Given the description of an element on the screen output the (x, y) to click on. 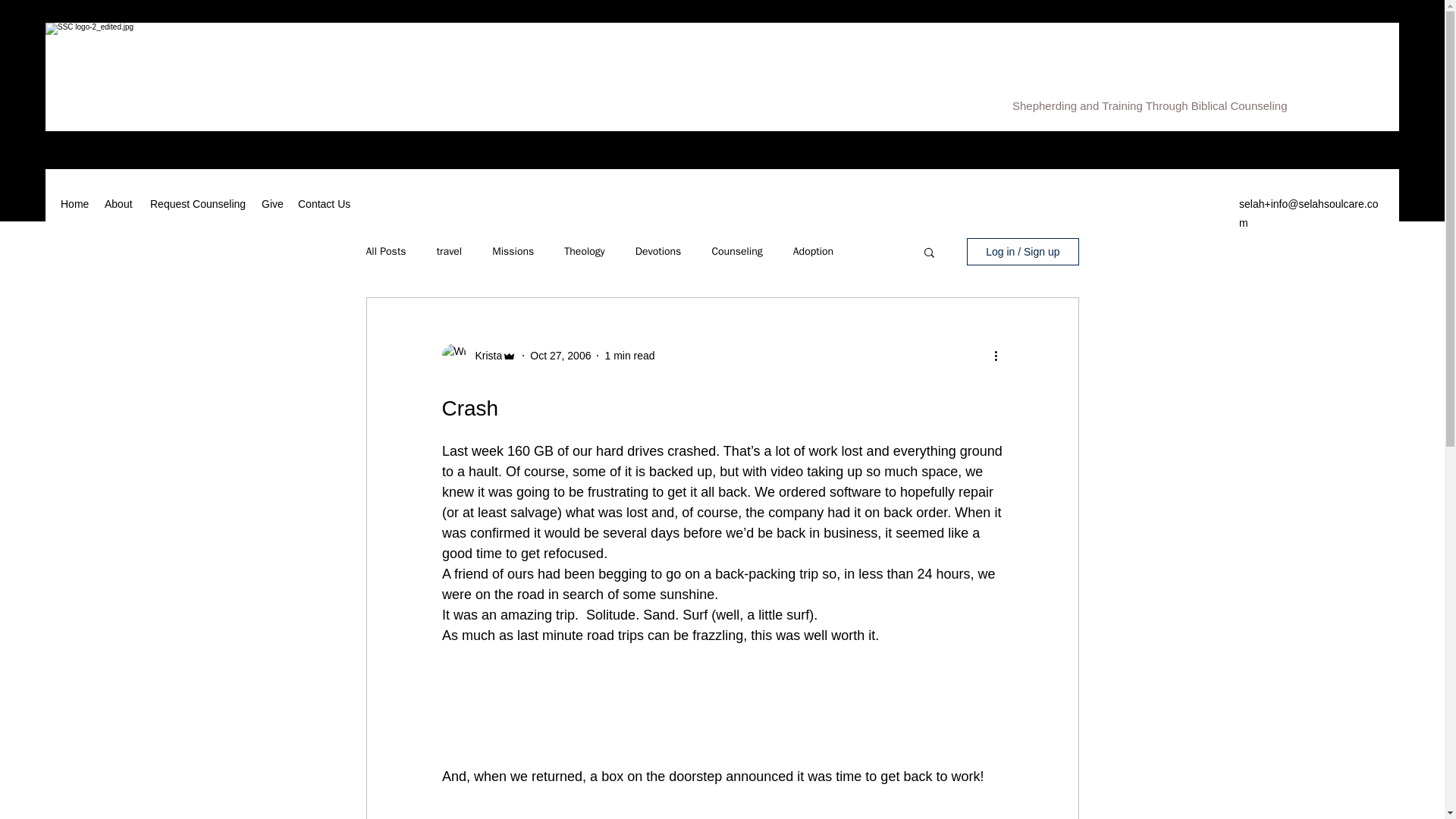
Theology (584, 251)
Oct 27, 2006 (560, 355)
Contact Us (323, 203)
About (119, 203)
Adoption (812, 251)
1 min read (628, 355)
All Posts (385, 251)
Devotions (657, 251)
Krista  (483, 355)
travel (449, 251)
Missions (513, 251)
Give (271, 203)
Home (74, 203)
Request Counseling (197, 203)
Counseling (736, 251)
